Given the description of an element on the screen output the (x, y) to click on. 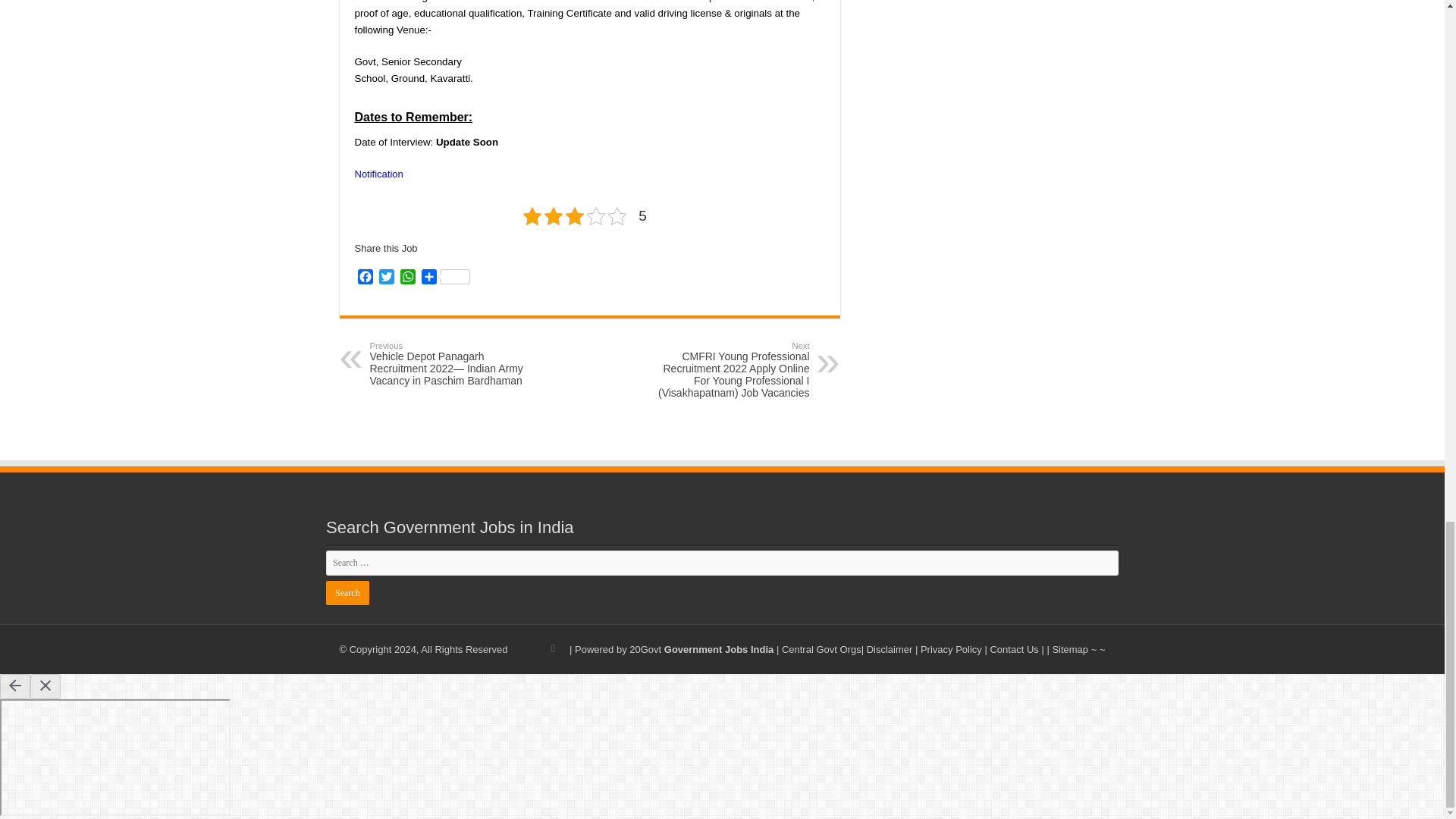
Search (347, 592)
Search (347, 592)
